Given the description of an element on the screen output the (x, y) to click on. 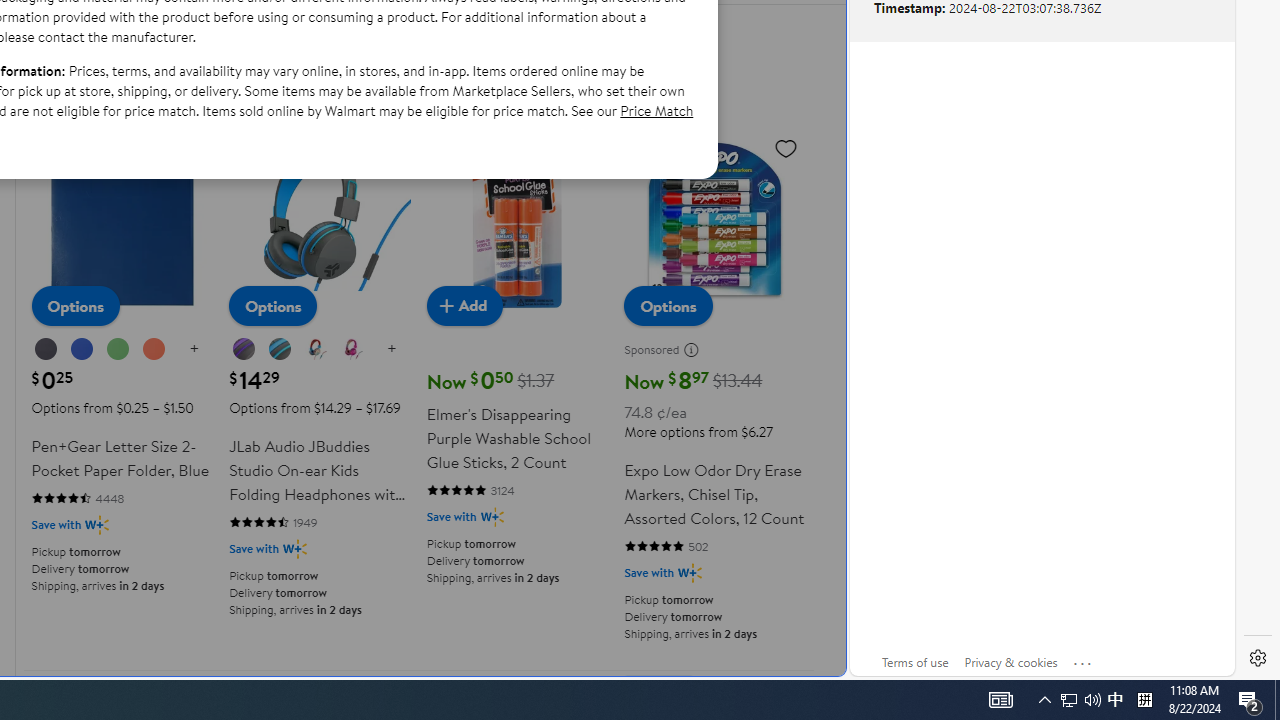
Click here for troubleshooting information (1083, 659)
Privacy & cookies (1010, 662)
Terms of use (914, 662)
